Given the description of an element on the screen output the (x, y) to click on. 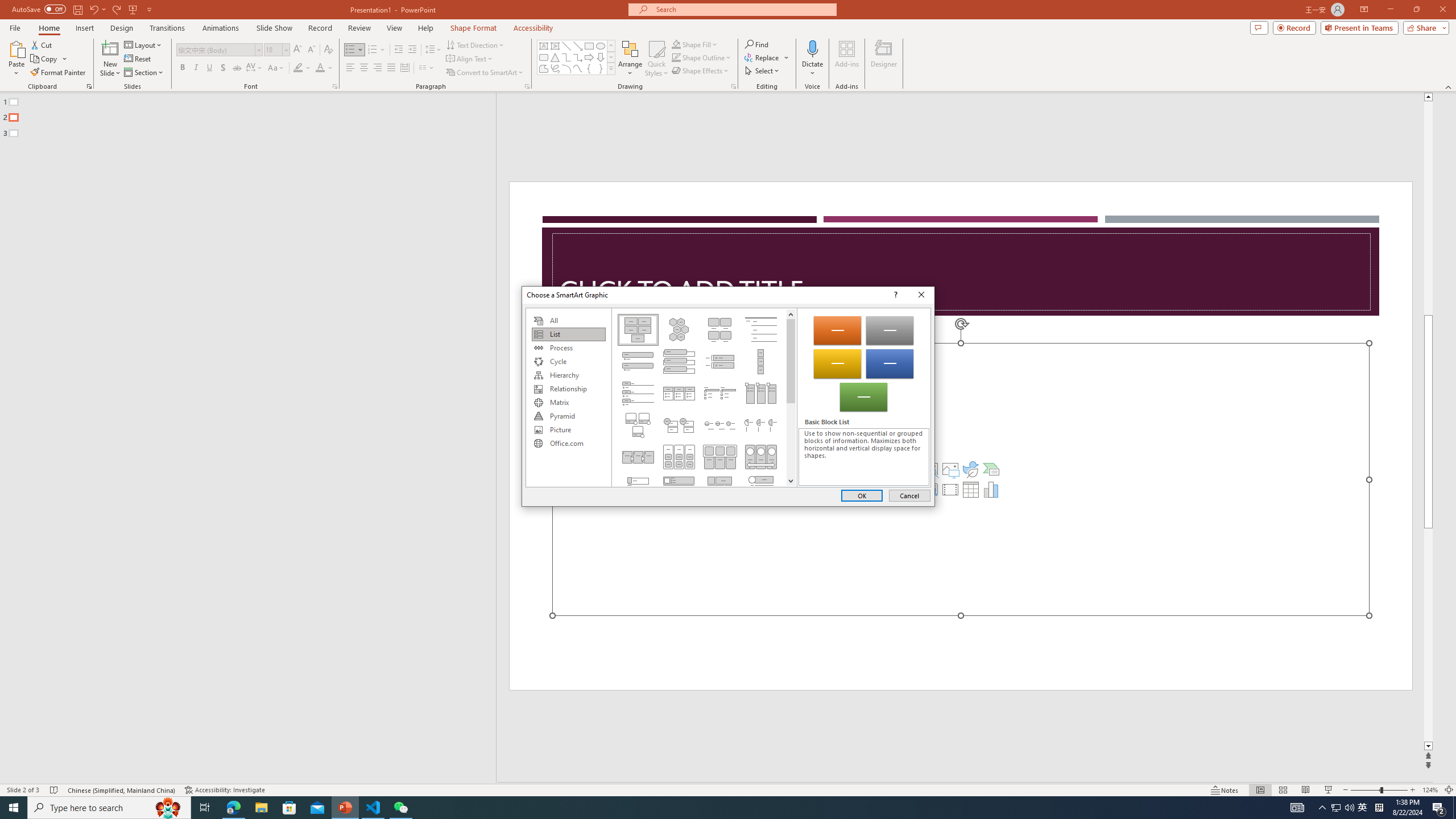
File Tab (15, 27)
Increase Indent (412, 49)
New Slide (110, 58)
Type here to search (108, 807)
Line Spacing (433, 49)
Open (285, 49)
More Options (812, 68)
Font Size (276, 49)
Varying Width List (761, 361)
Basic Block List (637, 329)
Rectangle: Rounded Corners (543, 57)
Left Brace (589, 68)
Font Color Red (320, 67)
Pictures (949, 469)
Bold (182, 67)
